Given the description of an element on the screen output the (x, y) to click on. 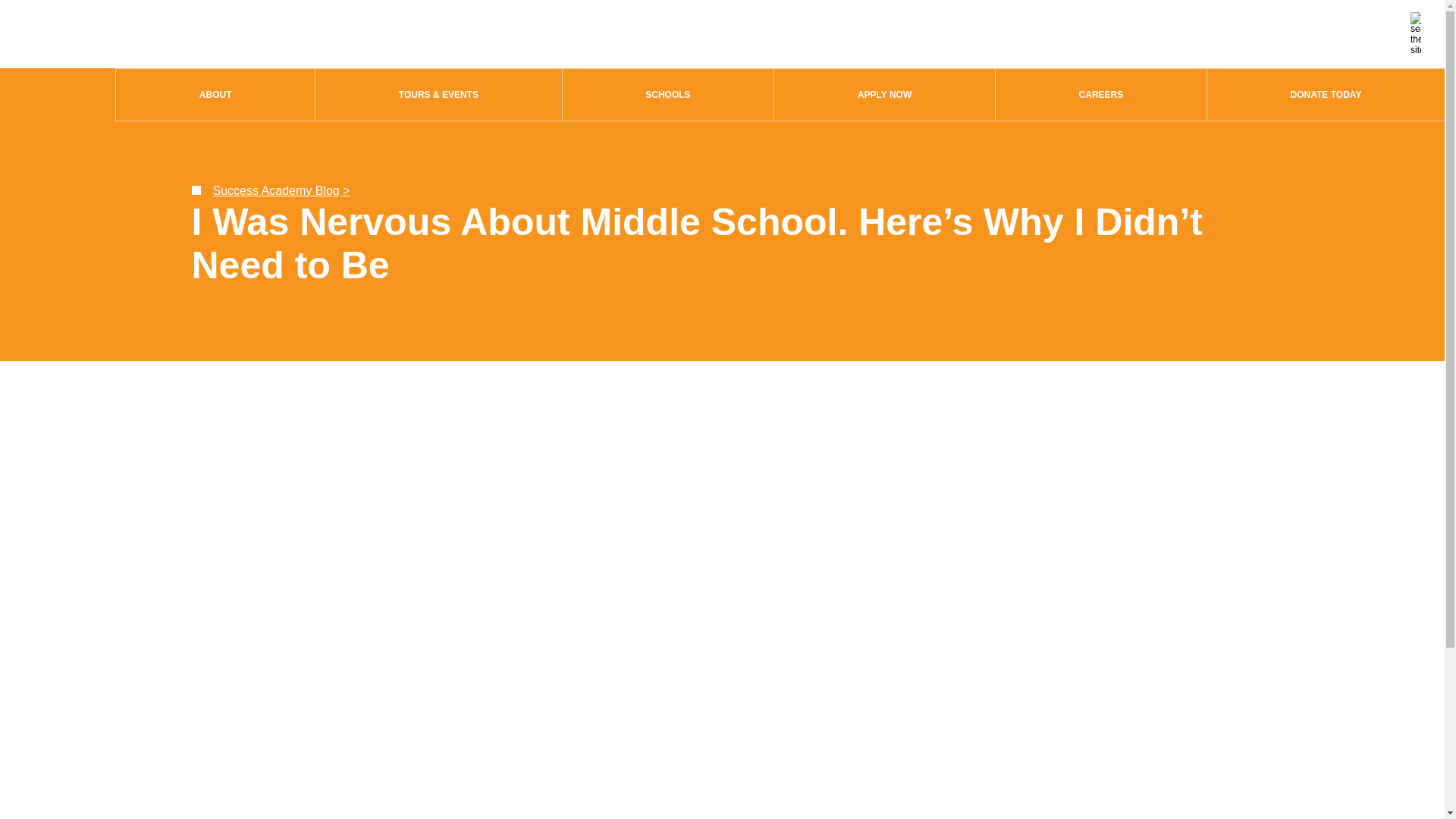
ABOUT (215, 94)
SCHOOLS (668, 94)
APPLY NOW (884, 94)
CAREERS (1101, 94)
